Given the description of an element on the screen output the (x, y) to click on. 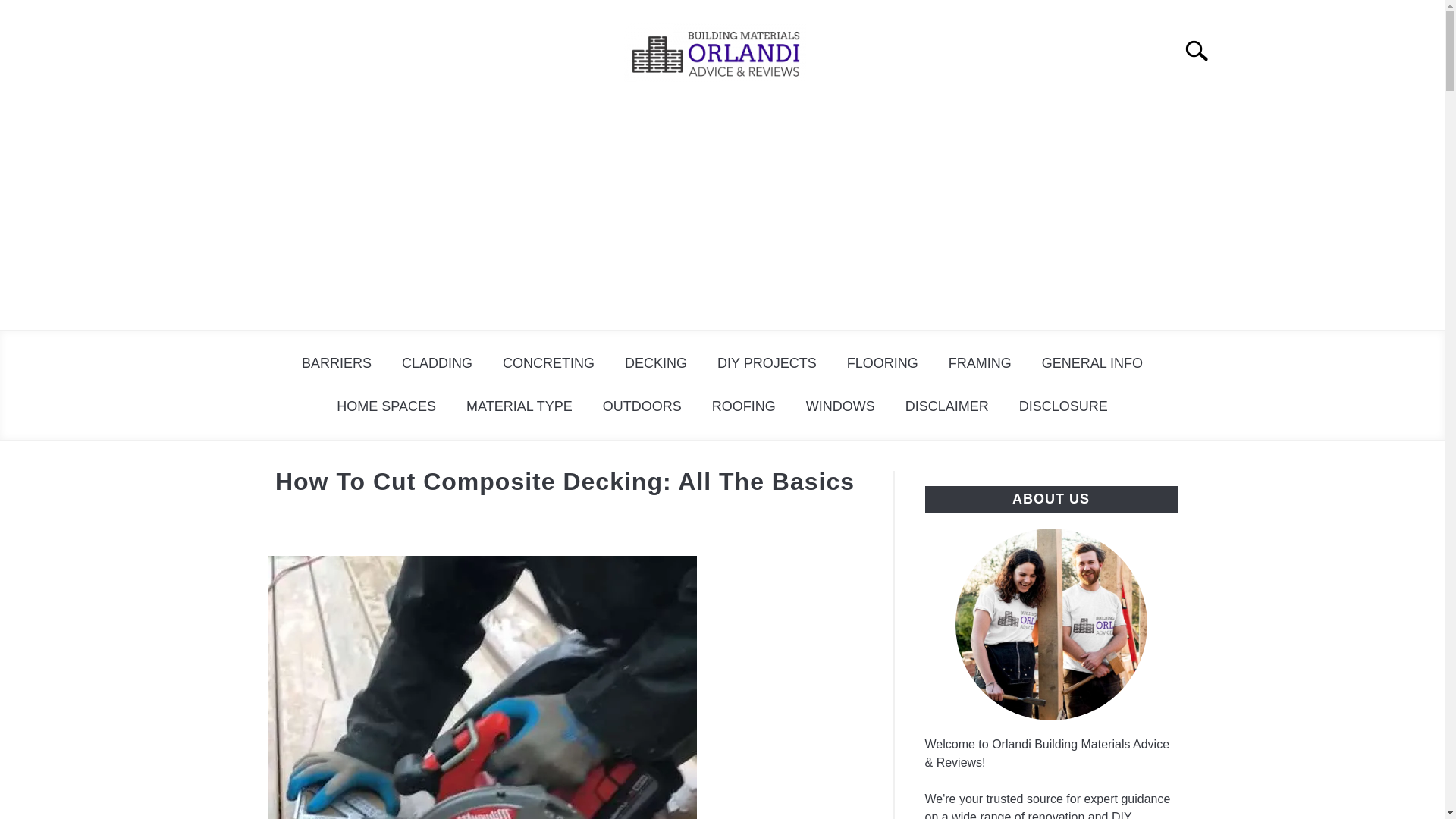
DECKING (655, 363)
GENERAL INFO (1091, 363)
FRAMING (979, 363)
FLOORING (882, 363)
Search (1203, 50)
MATERIAL TYPE (519, 407)
DISCLOSURE (1063, 407)
ROOFING (743, 407)
CONCRETING (548, 363)
DISCLAIMER (946, 407)
OUTDOORS (642, 407)
DIY PROJECTS (766, 363)
HOME SPACES (386, 407)
WINDOWS (839, 407)
